Given the description of an element on the screen output the (x, y) to click on. 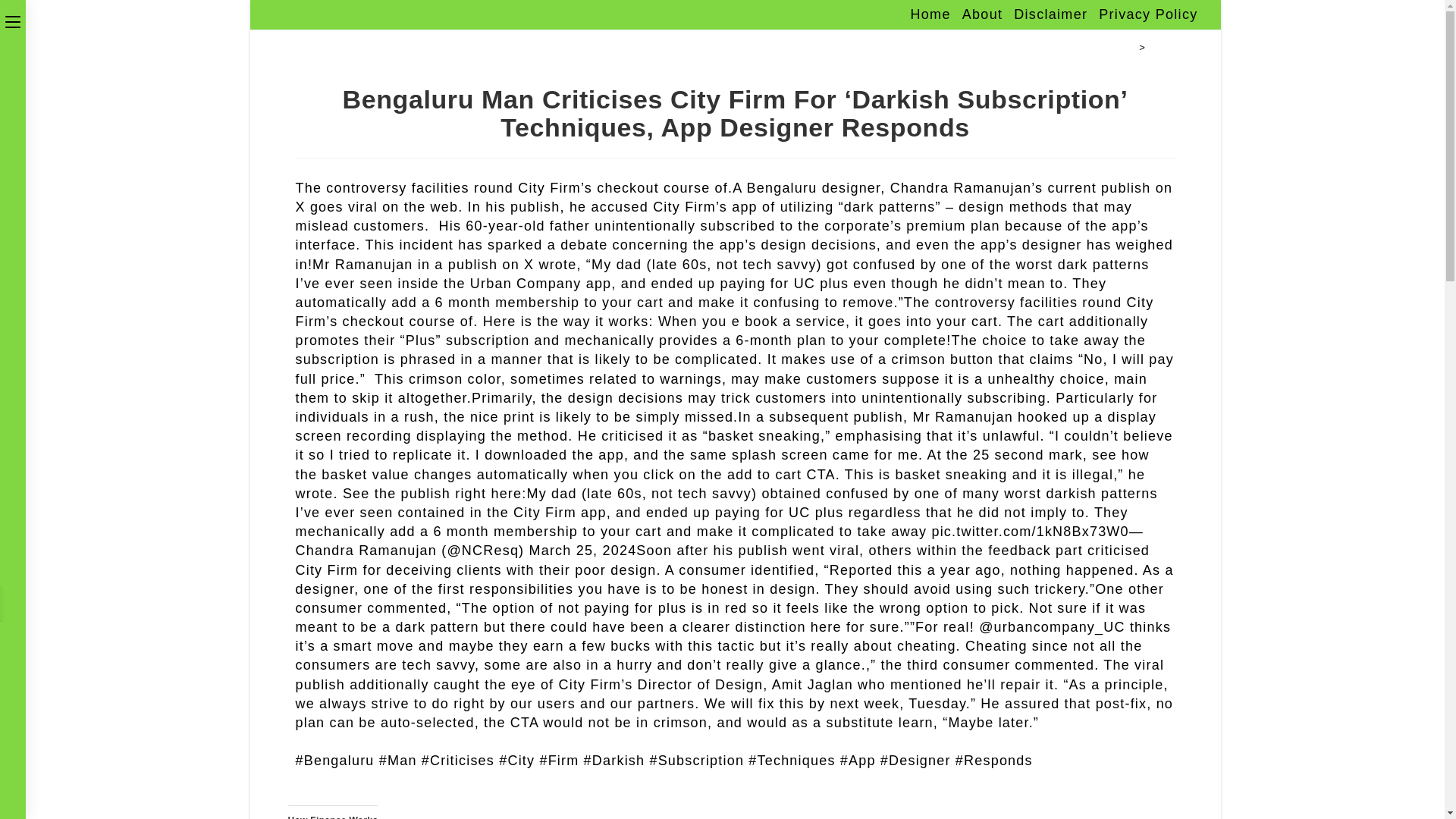
Home (1119, 47)
Disclaimer (1050, 14)
Home (930, 14)
Privacy Policy (1147, 14)
Business (1173, 47)
About (982, 14)
Toggle the button to expand or collapse the Menu (13, 20)
